Given the description of an element on the screen output the (x, y) to click on. 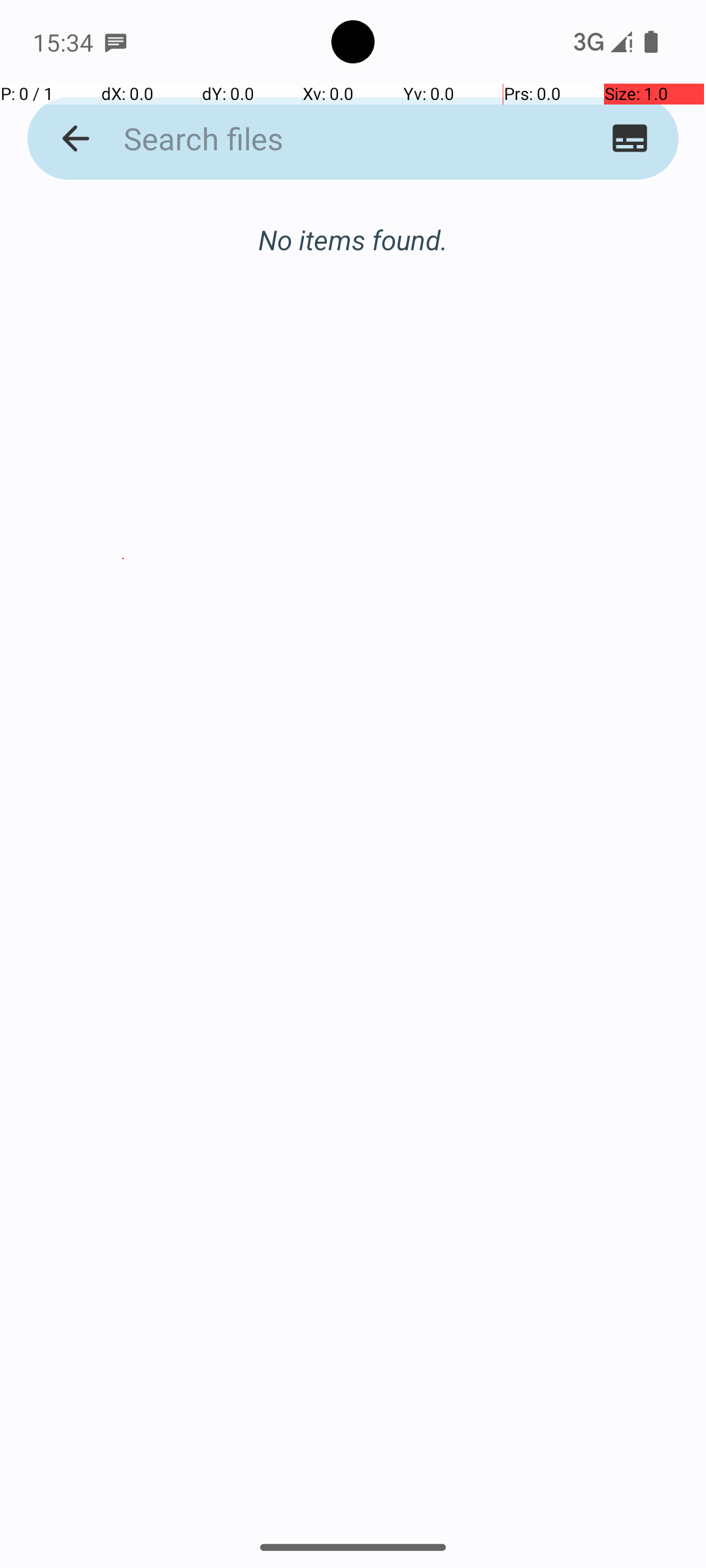
No items found. Element type: android.widget.TextView (353, 225)
Search files Element type: android.widget.EditText (328, 138)
Toggle filename visibility Element type: android.widget.Button (629, 138)
